Given the description of an element on the screen output the (x, y) to click on. 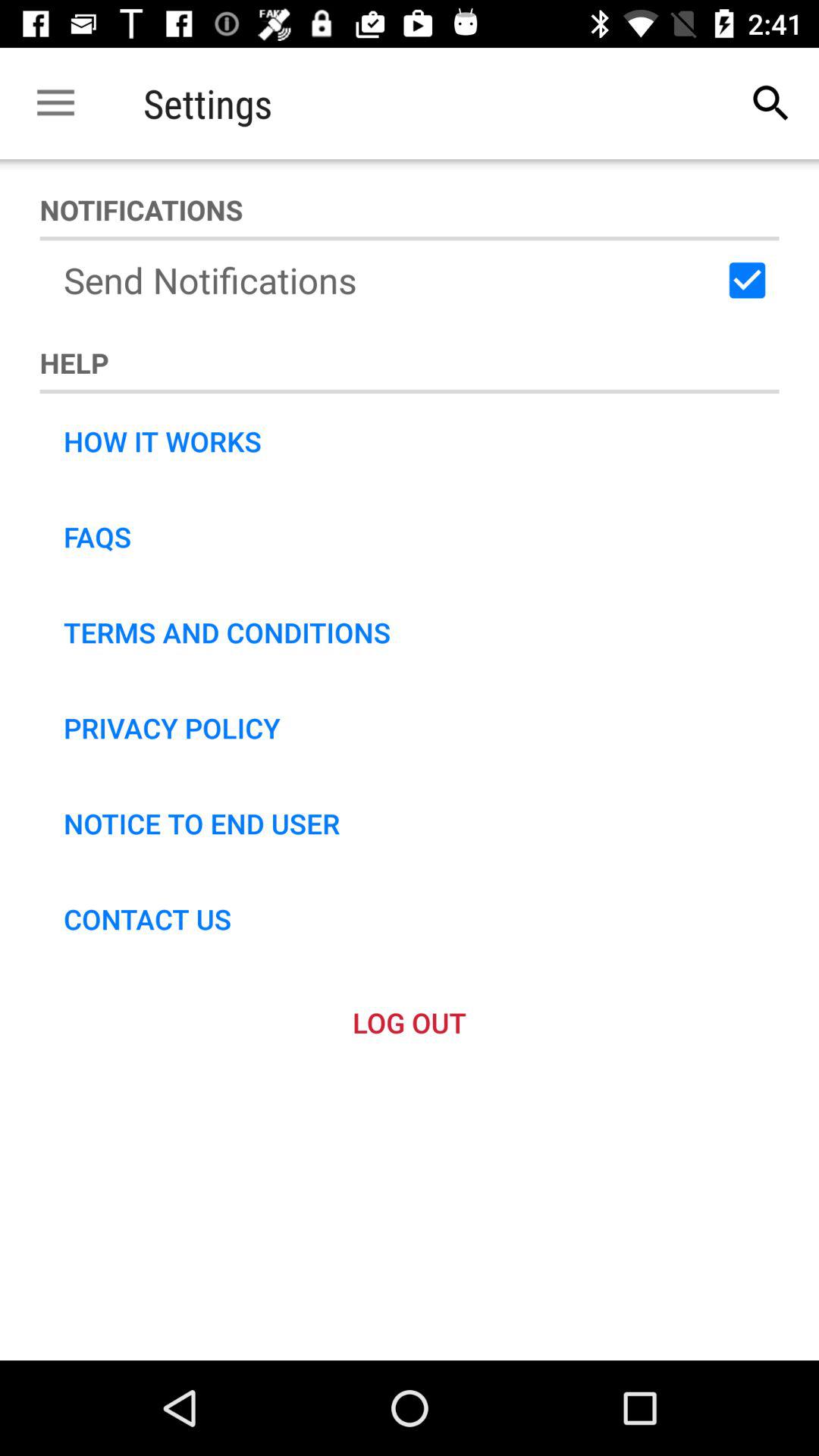
turn on the icon below the terms and conditions item (171, 727)
